Given the description of an element on the screen output the (x, y) to click on. 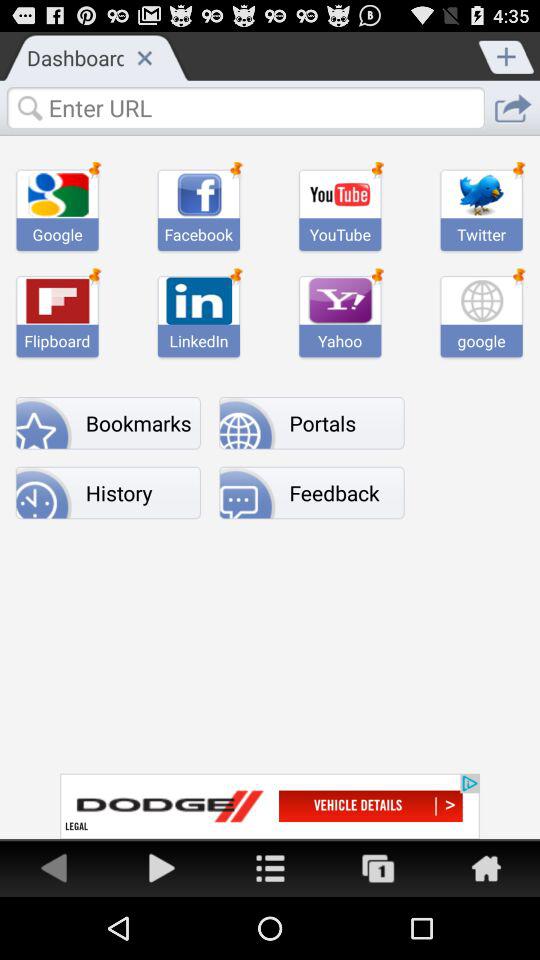
enter url (245, 107)
